Given the description of an element on the screen output the (x, y) to click on. 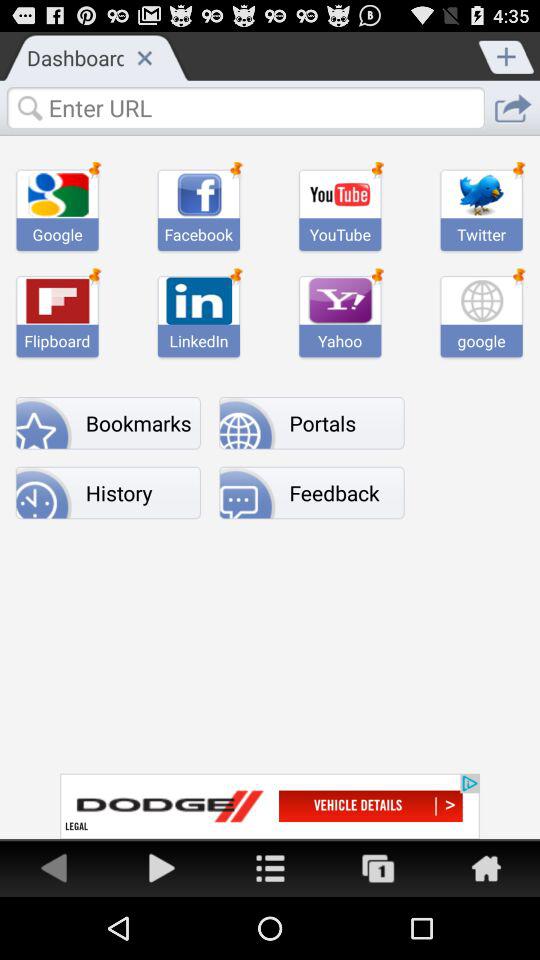
enter url (245, 107)
